Given the description of an element on the screen output the (x, y) to click on. 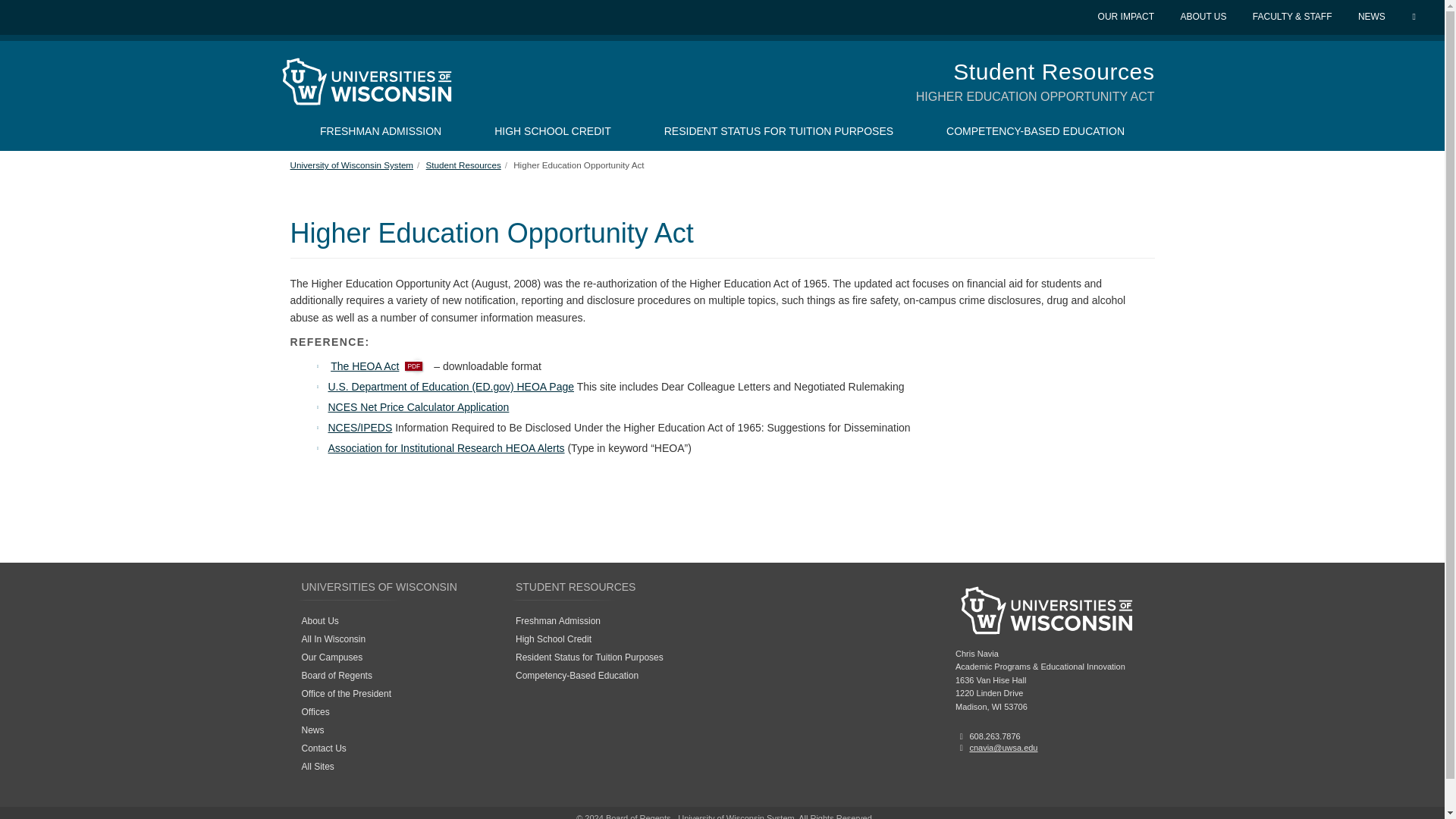
About Us (320, 620)
Association for Institutional Research HEOA Alerts (445, 448)
Office of the President (346, 693)
All Sites (317, 766)
Contact Us (323, 747)
FRESHMAN ADMISSION (380, 130)
OUR IMPACT (1127, 16)
All In Wisconsin (333, 638)
HIGH SCHOOL CREDIT (553, 130)
RESIDENT STATUS FOR TUITION PURPOSES (778, 130)
